Given the description of an element on the screen output the (x, y) to click on. 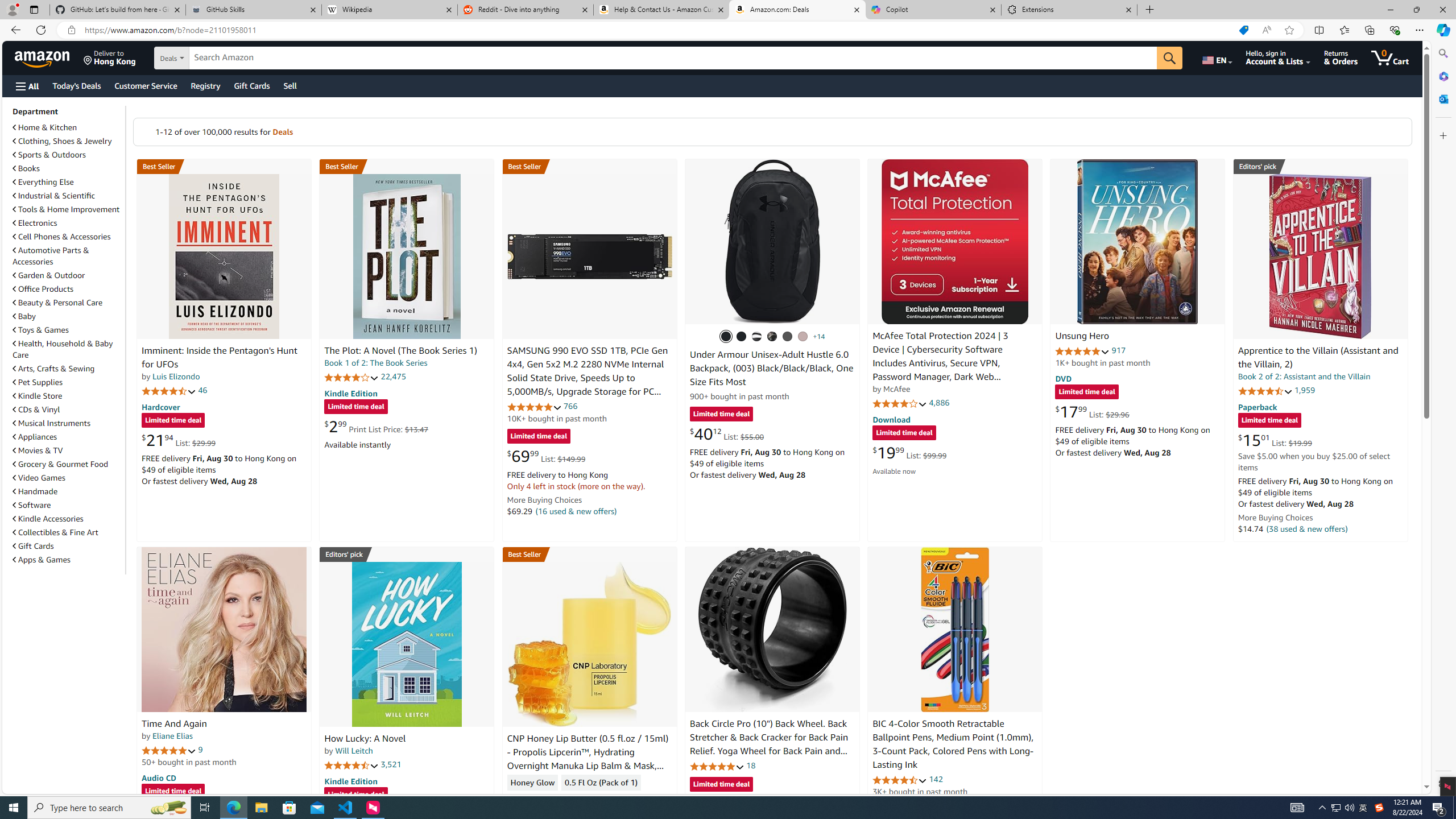
Automotive Parts & Accessories (67, 255)
Apprentice to the Villain (Assistant and the Villain, 2) (1319, 256)
Open Menu (26, 86)
Best Seller in Internal Solid State Drives (589, 165)
4.3 out of 5 stars (534, 799)
Movies & TV (37, 450)
Go (1169, 57)
4.6 out of 5 stars (899, 779)
Health, Household & Baby Care (63, 349)
Appliances (34, 436)
Software (31, 504)
Search Amazon (673, 57)
